Given the description of an element on the screen output the (x, y) to click on. 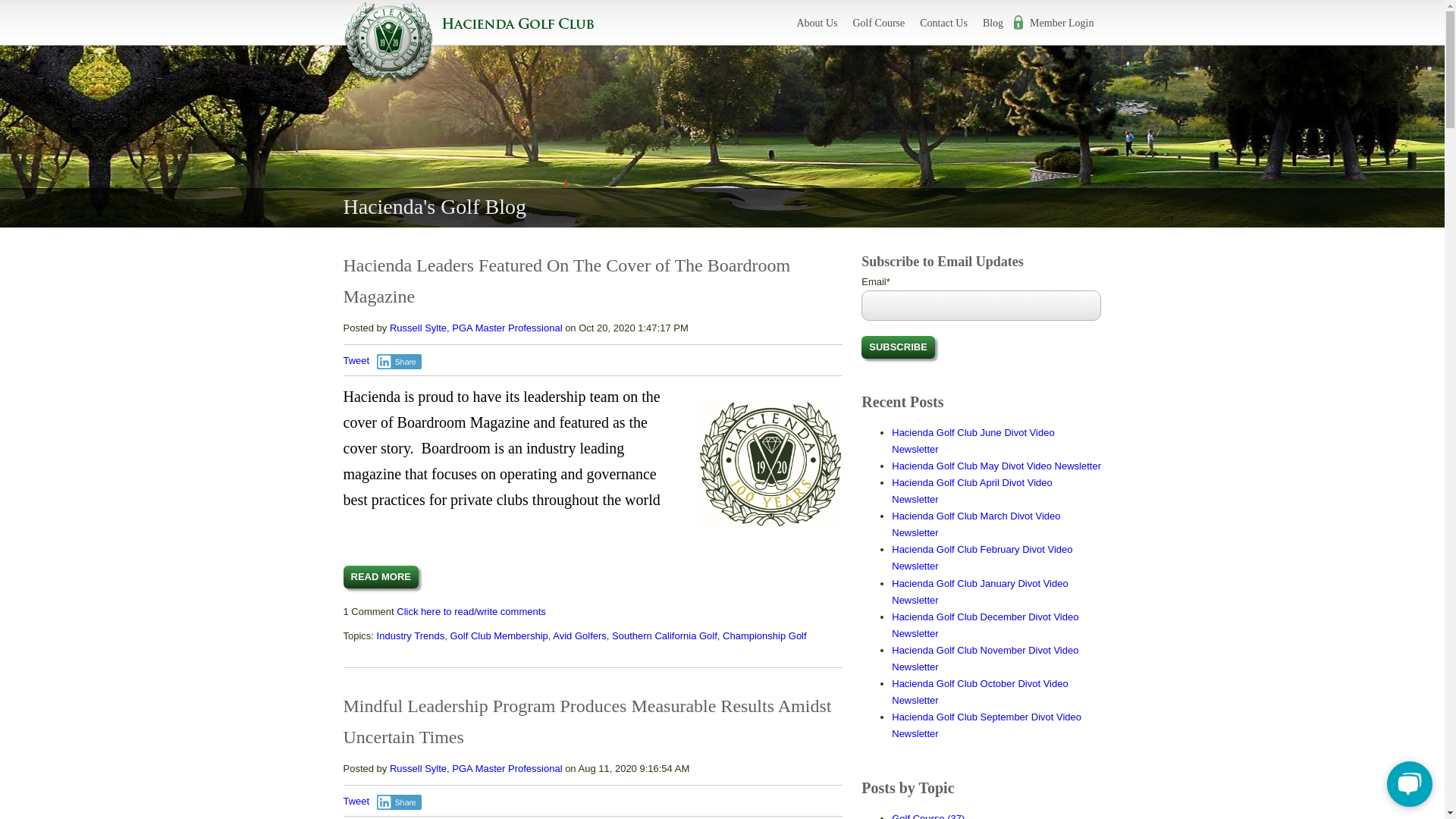
About Us (816, 23)
Member Login (1055, 23)
Subscribe (897, 346)
Industry Trends (411, 635)
Tweet (355, 360)
READ MORE (379, 576)
Share (399, 361)
Southern California Golf (664, 635)
Avid Golfers (580, 635)
Share (399, 801)
Tweet (355, 800)
Russell Sylte, PGA Master Professional (476, 327)
Championship Golf (764, 635)
